Given the description of an element on the screen output the (x, y) to click on. 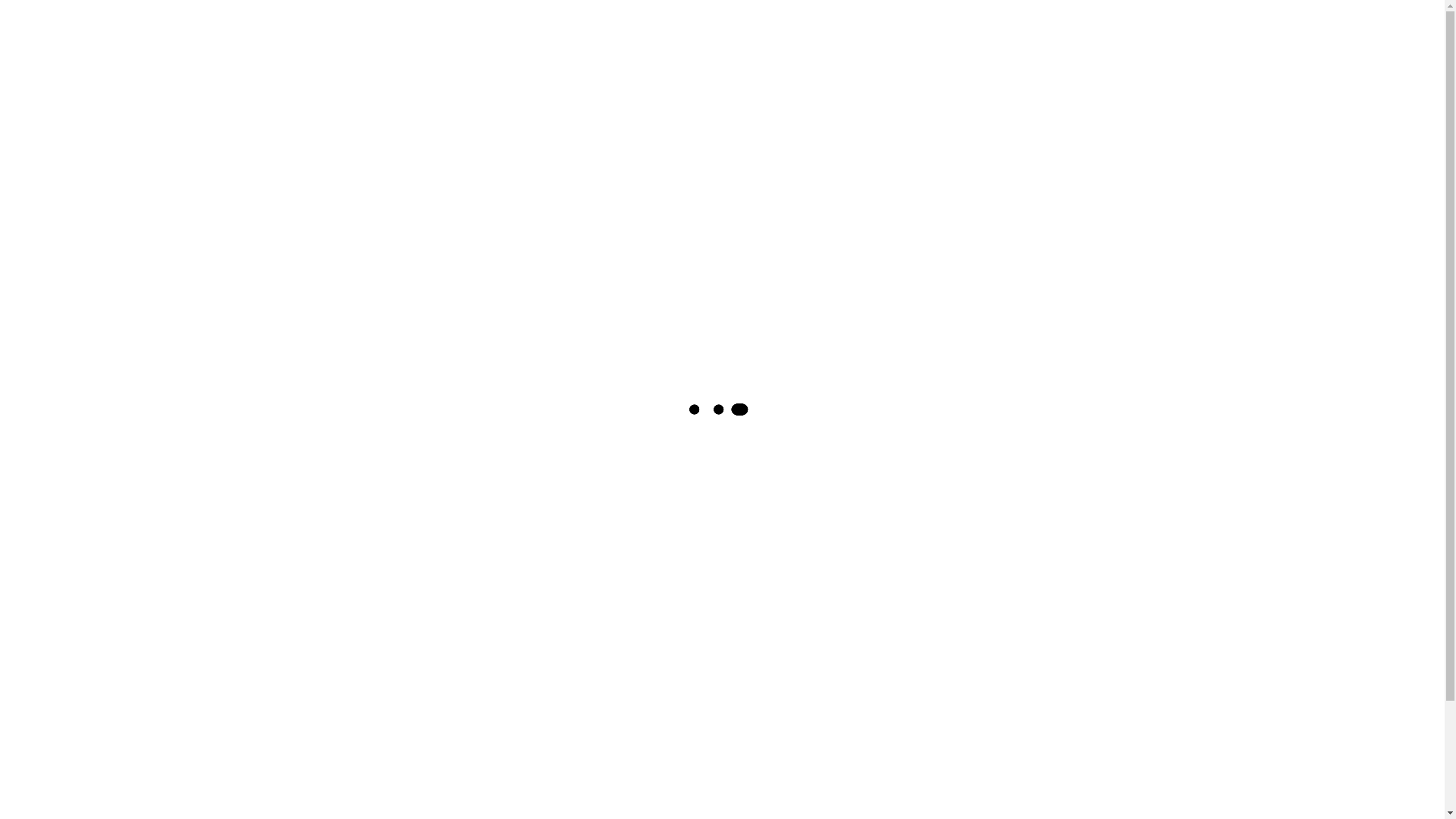
LAYOUT B Element type: text (984, 71)
PAGE RIGHT SIDEBAR Element type: text (947, 185)
LAYOUT D Element type: text (914, 109)
LARGE CARPET RUGS Element type: text (342, 384)
MEETING ROOMS Element type: text (550, 384)
CONVENIENT SERVICES Element type: text (914, 384)
BAGS Element type: text (668, 384)
LAYOUT F Element type: text (1053, 109)
GEOGRAPHICAL TOUR Element type: text (343, 404)
LAYOUT E Element type: text (985, 109)
COST EFFECTIVE Element type: text (1025, 384)
Search Element type: text (1151, 166)
PREVIOUS/NEXT Element type: text (1067, 185)
TYPOGRAPHY Element type: text (924, 299)
Search Element type: text (778, 585)
PRIVACY POLICY Element type: text (934, 223)
NORMATEC BOOTS Element type: text (451, 384)
LUGGAGE Element type: text (717, 384)
VENUES Element type: text (622, 384)
WITHOUT SIDEBAR Element type: text (1028, 299)
BUSINESS IMPETUS TRAINING AND NEWS Element type: text (583, 166)
LAYOUT G Element type: text (914, 147)
CONTACT Element type: text (1064, 33)
LAYOUTS Element type: text (983, 147)
AVOID INFECTIONS Element type: text (799, 384)
LAYOUT C Element type: text (1055, 71)
SAMPLE PAGE Element type: text (925, 261)
ABOUT US Element type: text (915, 33)
LAYOUT A Element type: text (914, 71)
BIG SLIDER Element type: text (992, 33)
Homepage Element type: text (575, 679)
SHORTCODES Element type: text (1016, 261)
SAMPLE PAGE Element type: text (1034, 223)
LOAD MORE Element type: text (1056, 147)
